Given the description of an element on the screen output the (x, y) to click on. 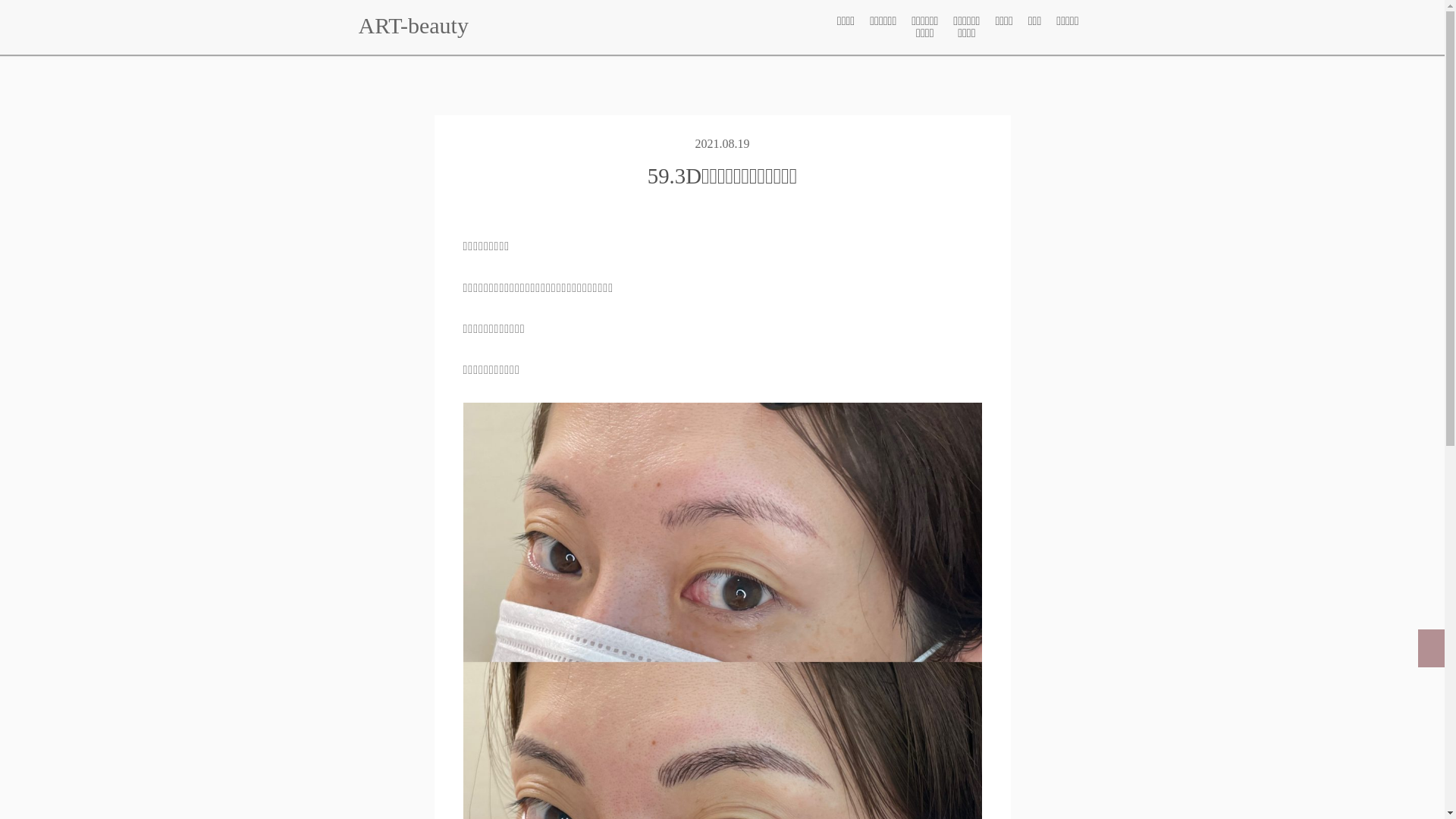
ART-beauty Element type: text (412, 24)
